Given the description of an element on the screen output the (x, y) to click on. 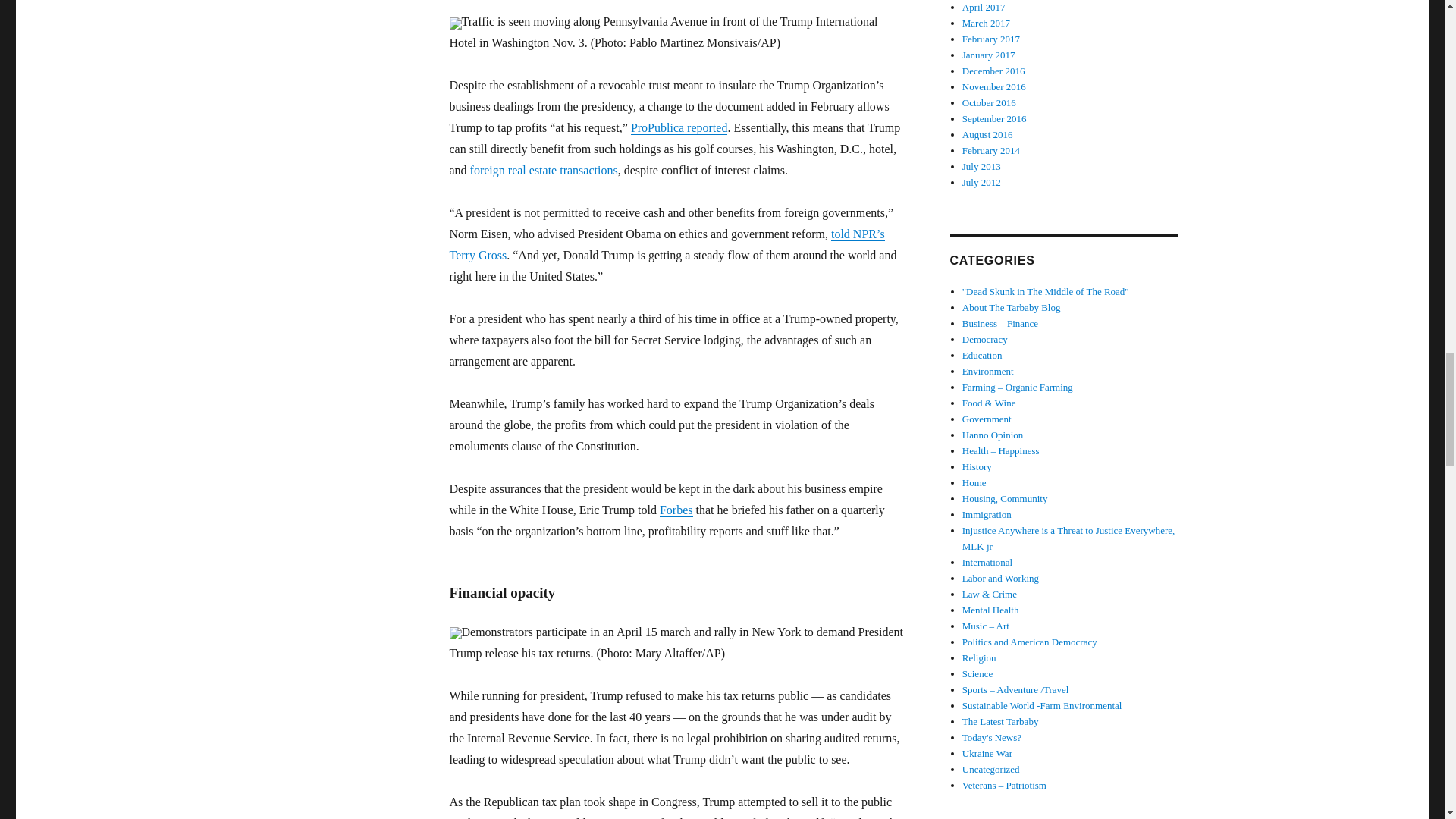
foreign real estate transactions (543, 169)
Presenting another Tarbaby (1000, 721)
Stories of injustice and justice (1068, 538)
Read about the origins of this Tarbaby Blog (1011, 307)
Forbes (676, 509)
Issues and events that stink to high heaven (1045, 291)
ProPublica reported (679, 127)
